Given the description of an element on the screen output the (x, y) to click on. 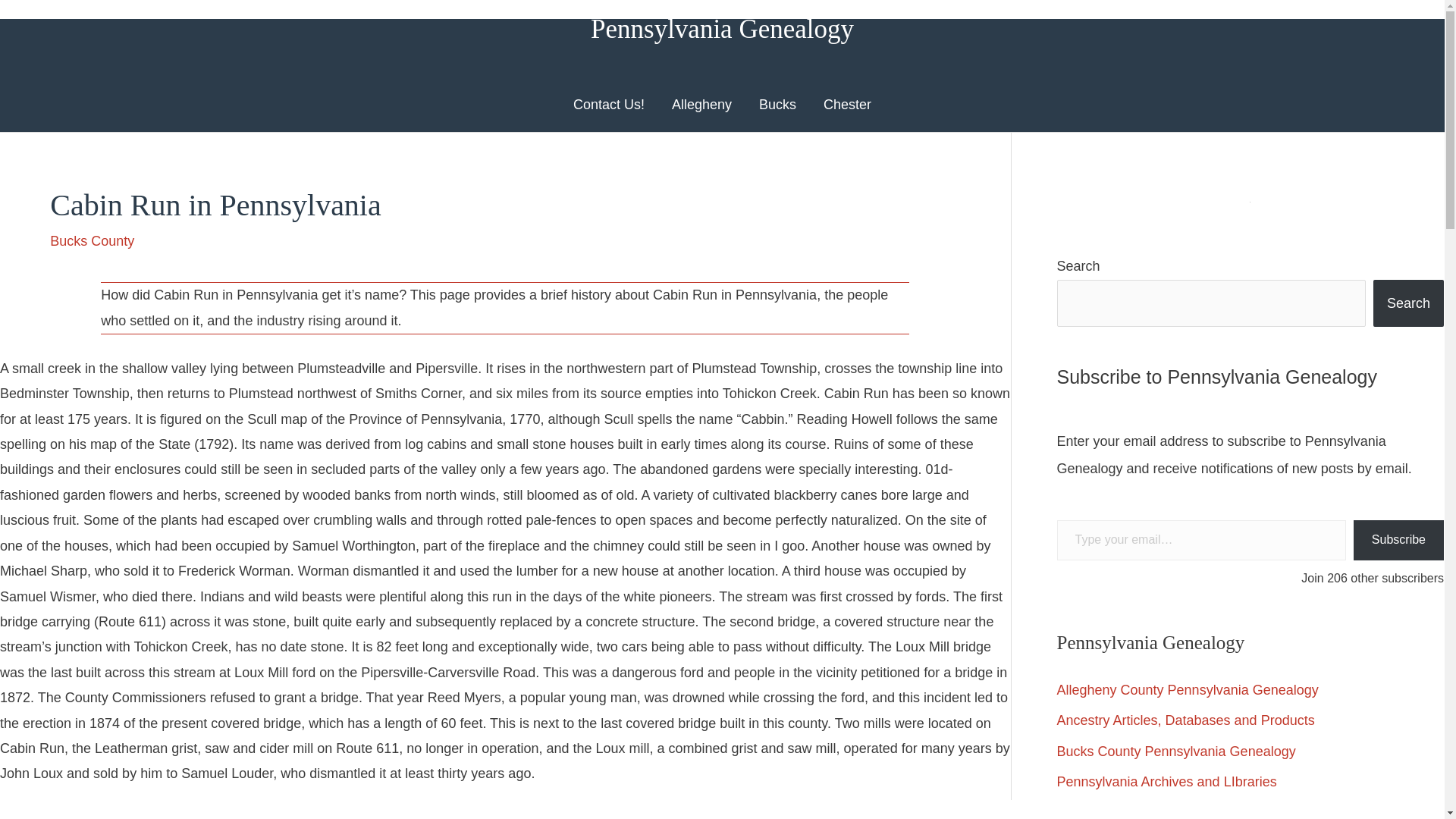
Pennsylvania Genealogy (722, 29)
Chester (847, 103)
Search (1408, 302)
Pennsylvania Cemetery Records (1156, 812)
Ancestry Articles, Databases and Products (1185, 720)
Contact Us! (608, 103)
Bucks (777, 103)
Allegheny County Pennsylvania Genealogy (1188, 689)
Bucks County (91, 240)
Please fill in this field. (1201, 540)
Bucks County Pennsylvania Genealogy (1176, 751)
Allegheny (701, 103)
Subscribe (1399, 540)
Pennsylvania Archives and LIbraries (1166, 781)
